Given the description of an element on the screen output the (x, y) to click on. 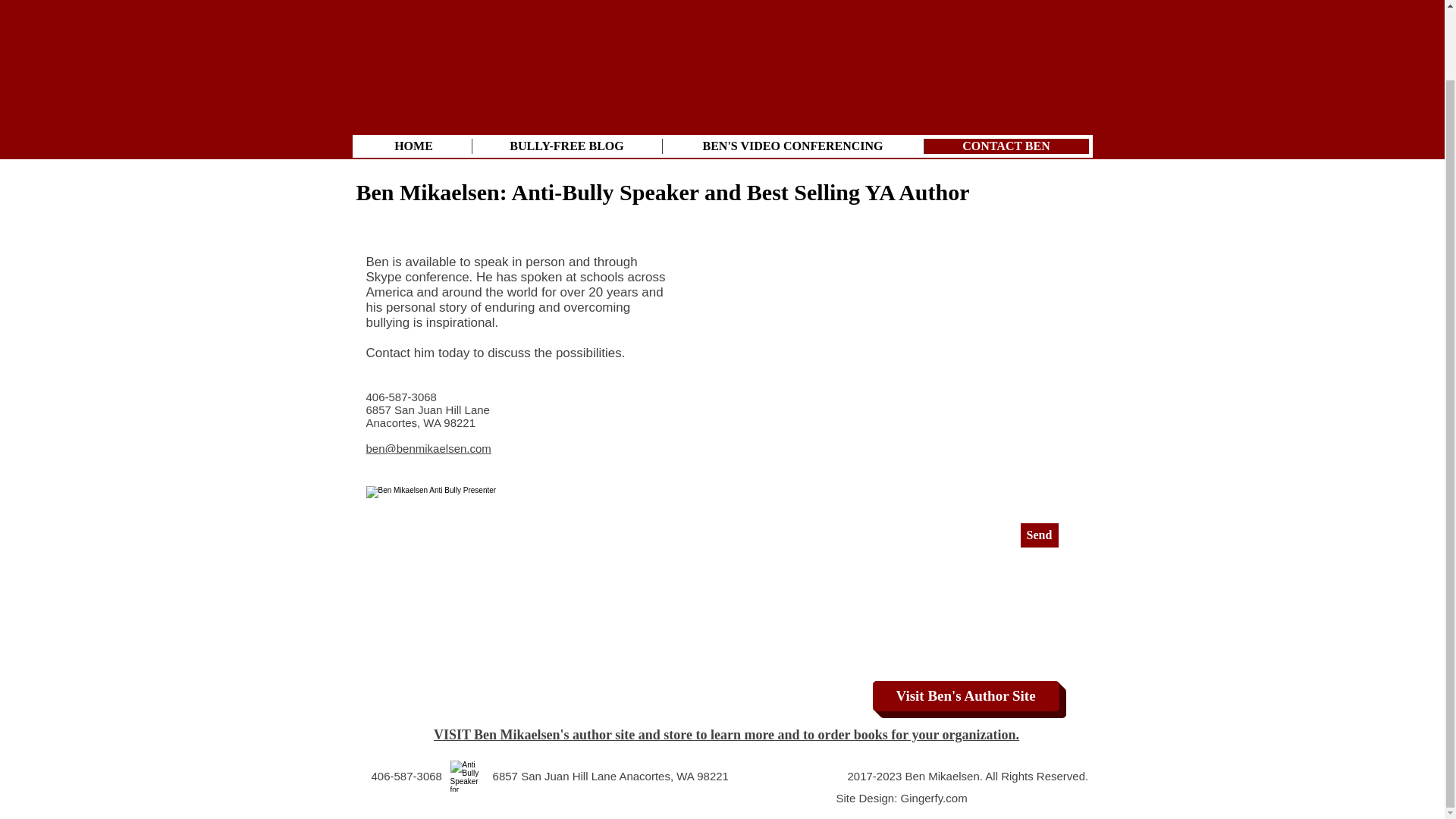
Visit Ben's Author Site (965, 695)
CONTACT BEN (1006, 145)
BULLY-FREE BLOG (566, 145)
HOME (413, 145)
Site Design: Gingerfy.com (900, 797)
Send (1039, 535)
BEN'S VIDEO CONFERENCING (792, 145)
